Given the description of an element on the screen output the (x, y) to click on. 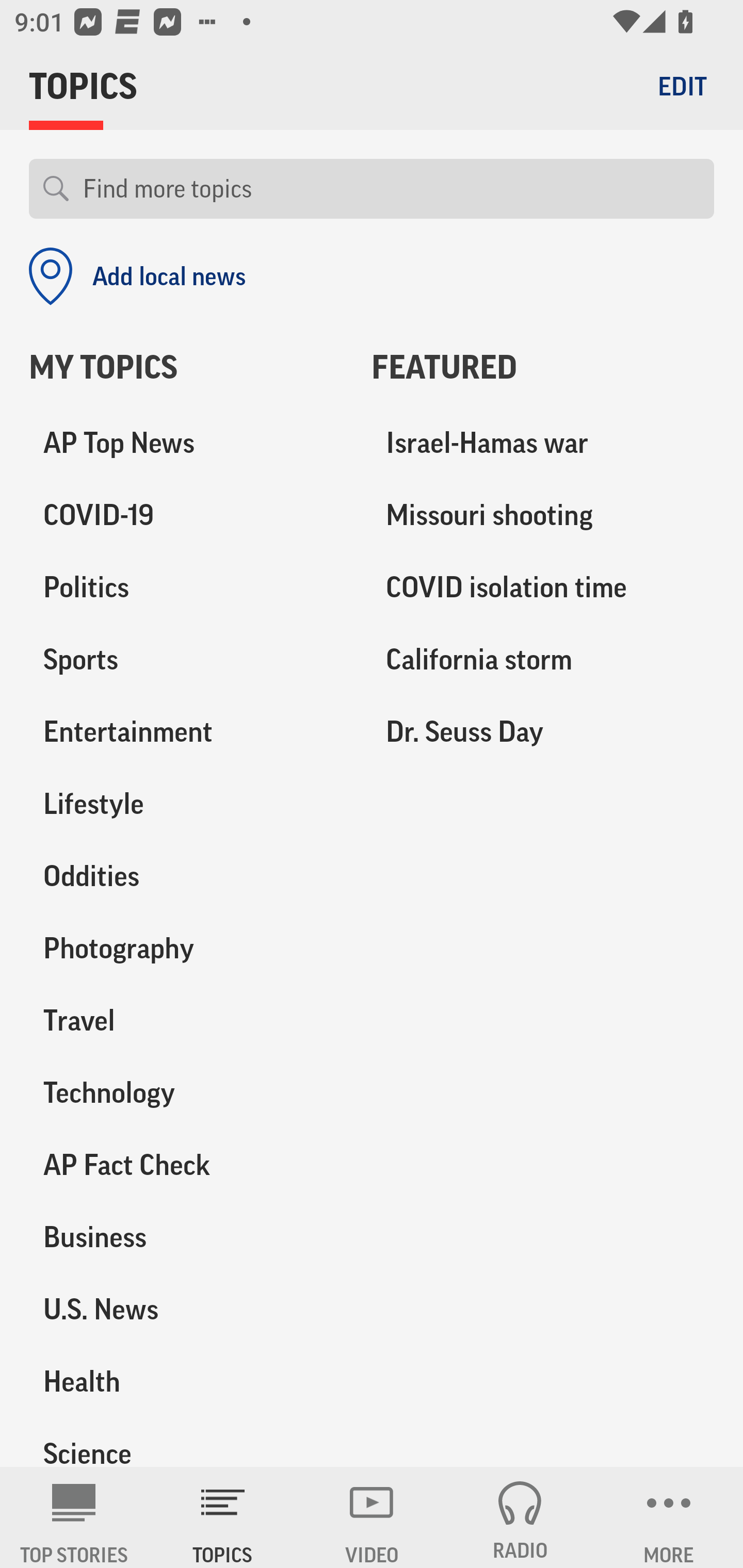
EDIT (682, 86)
Find more topics (391, 188)
Add local news (137, 276)
AP Top News (185, 443)
Israel-Hamas war (542, 443)
COVID-19 (185, 515)
Missouri shooting (542, 515)
Politics (185, 587)
COVID isolation time (542, 587)
Sports (185, 660)
California storm (542, 660)
Entertainment (185, 732)
Dr. Seuss Day (542, 732)
Lifestyle (185, 804)
Oddities (185, 876)
Photography (185, 948)
Travel (185, 1020)
Technology (185, 1092)
AP Fact Check (185, 1164)
Business (185, 1237)
U.S. News (185, 1309)
Health (185, 1381)
Science (185, 1442)
AP News TOP STORIES (74, 1517)
TOPICS (222, 1517)
VIDEO (371, 1517)
RADIO (519, 1517)
MORE (668, 1517)
